Given the description of an element on the screen output the (x, y) to click on. 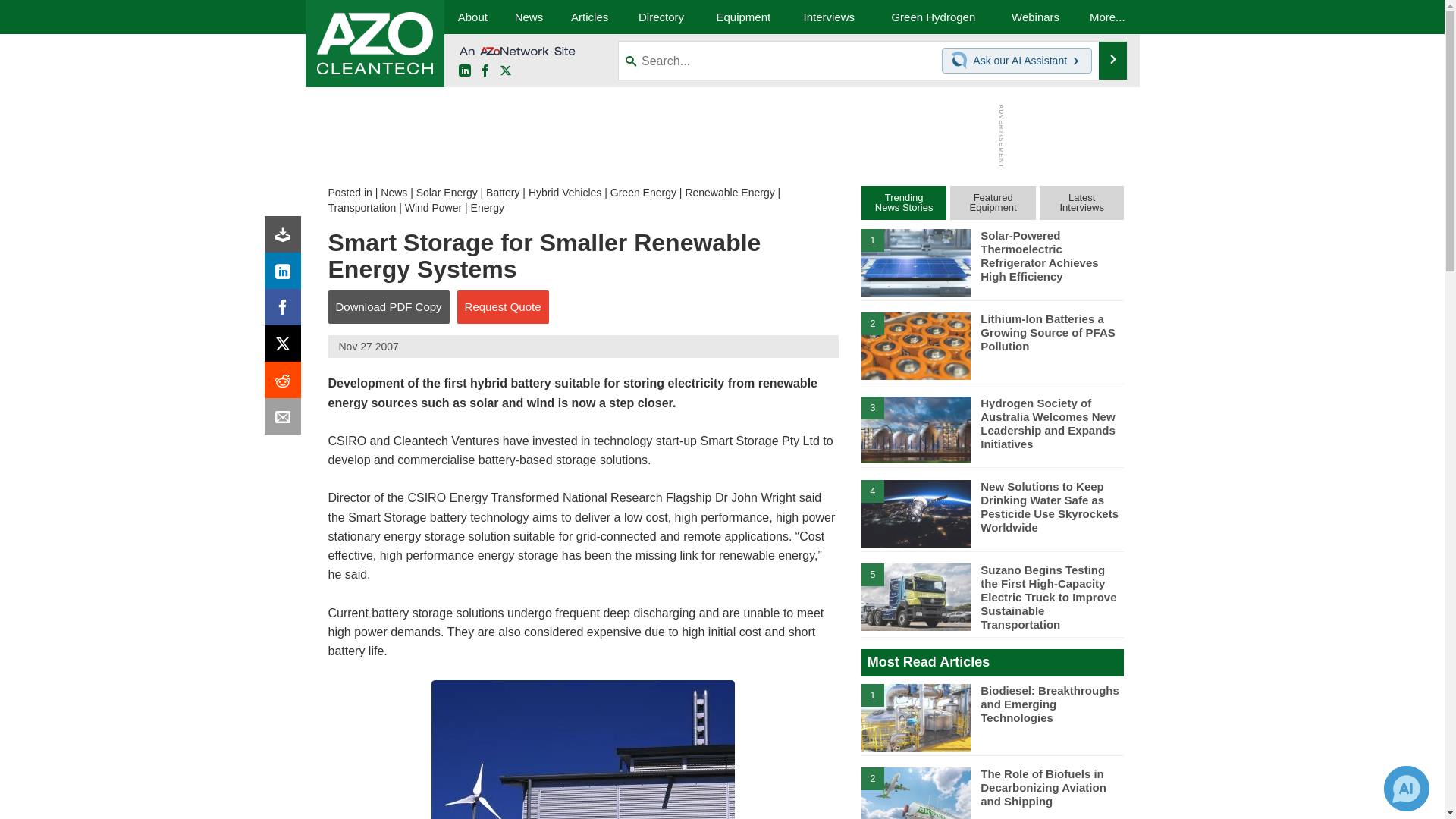
Interviews (828, 17)
Facebook (485, 71)
Directory (660, 17)
Chat with our AI Assistant Ask our AI Assistant (1017, 60)
Webinars (1035, 17)
News (393, 192)
Green Hydrogen (932, 17)
Download PDF copy (285, 238)
Search (1112, 60)
Equipment (742, 17)
Solar Energy (446, 192)
X (505, 71)
More... (1106, 17)
X (285, 348)
